Given the description of an element on the screen output the (x, y) to click on. 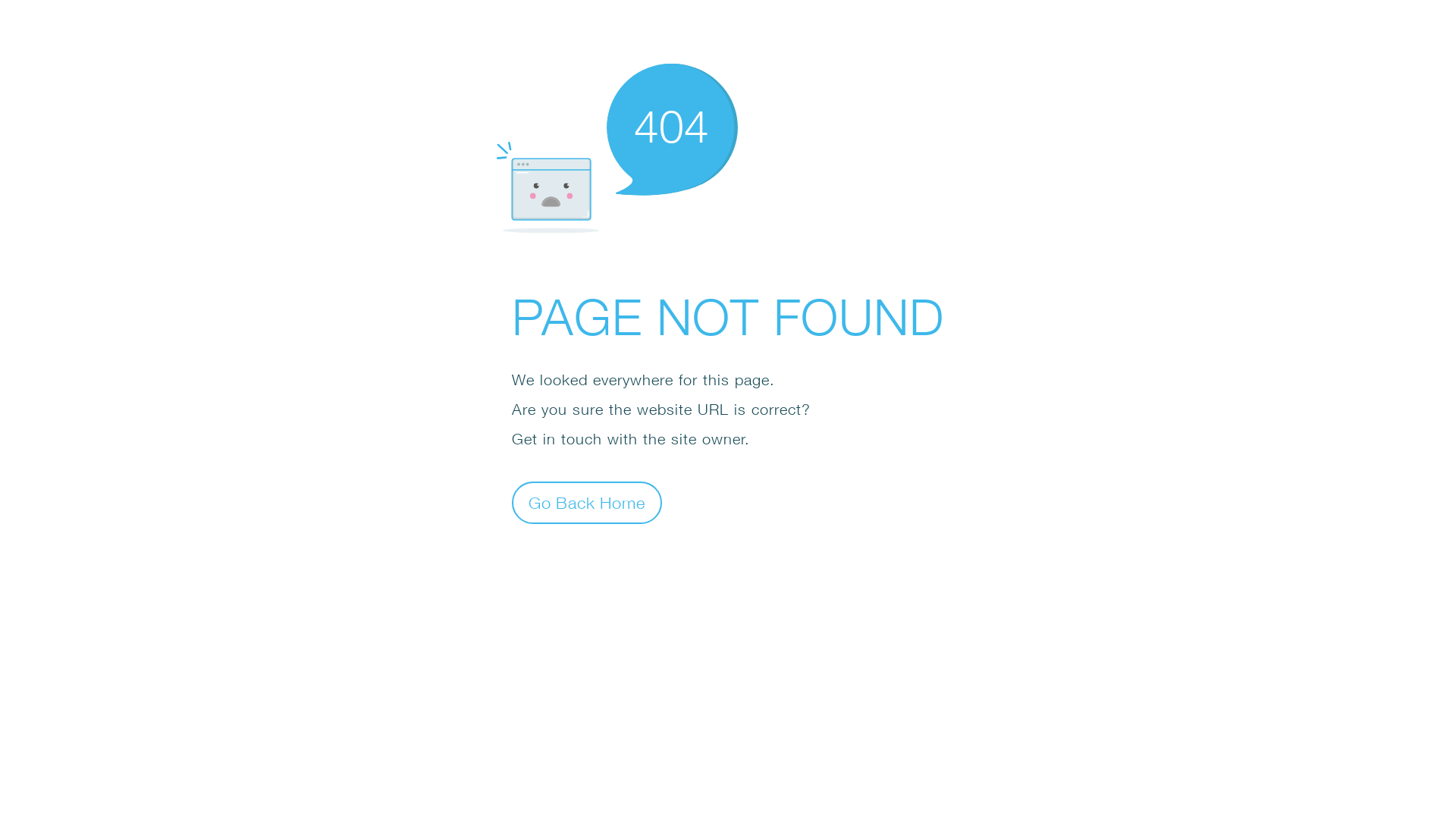
Go Back Home Element type: text (586, 502)
